Given the description of an element on the screen output the (x, y) to click on. 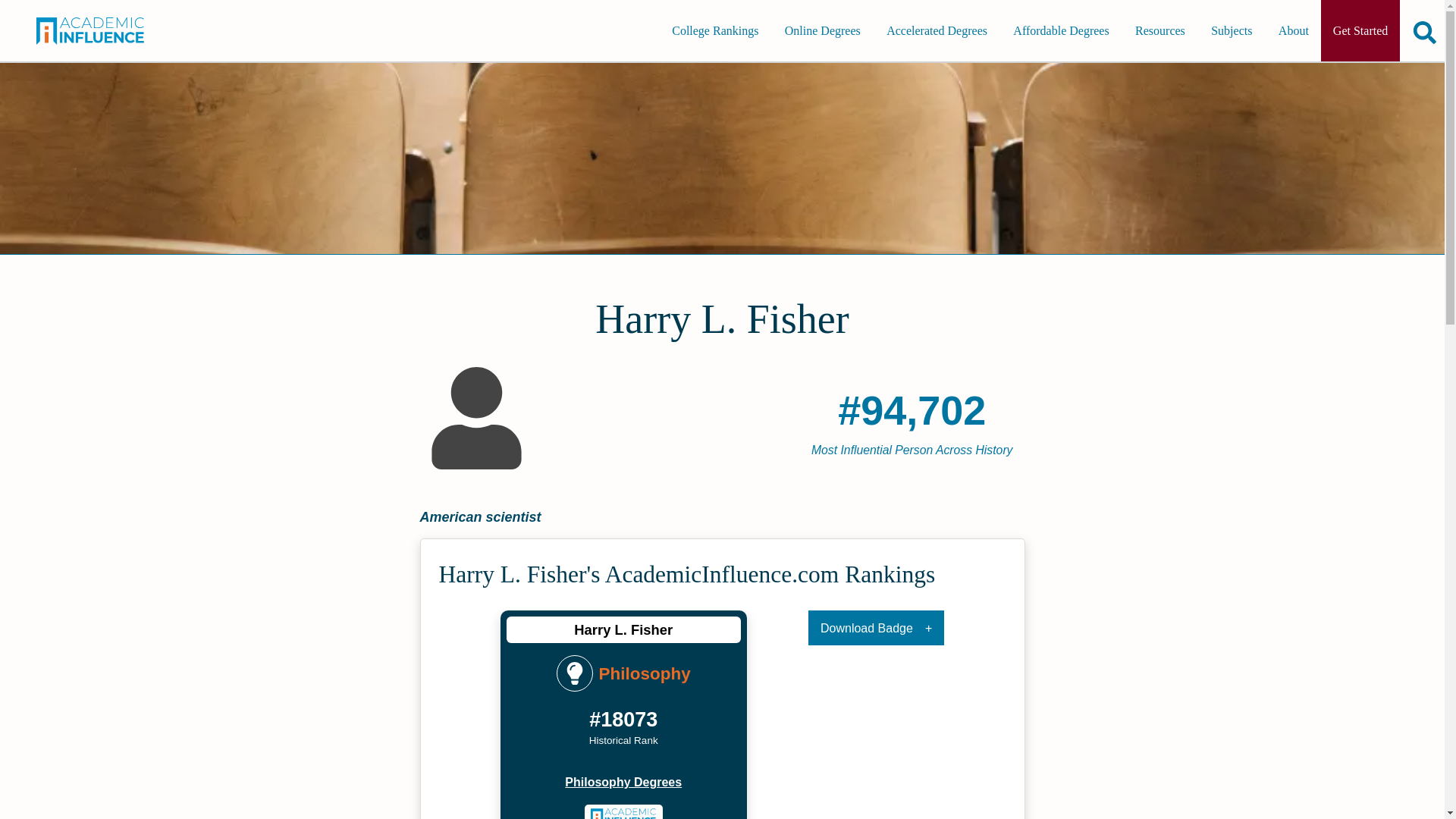
Resources (1159, 30)
Subjects (1230, 30)
About (1293, 30)
Get Started (1359, 30)
Affordable Degrees (1061, 30)
Online Degrees (822, 30)
Philosophy Degrees (622, 782)
Accelerated Degrees (936, 30)
College Rankings (714, 30)
